Given the description of an element on the screen output the (x, y) to click on. 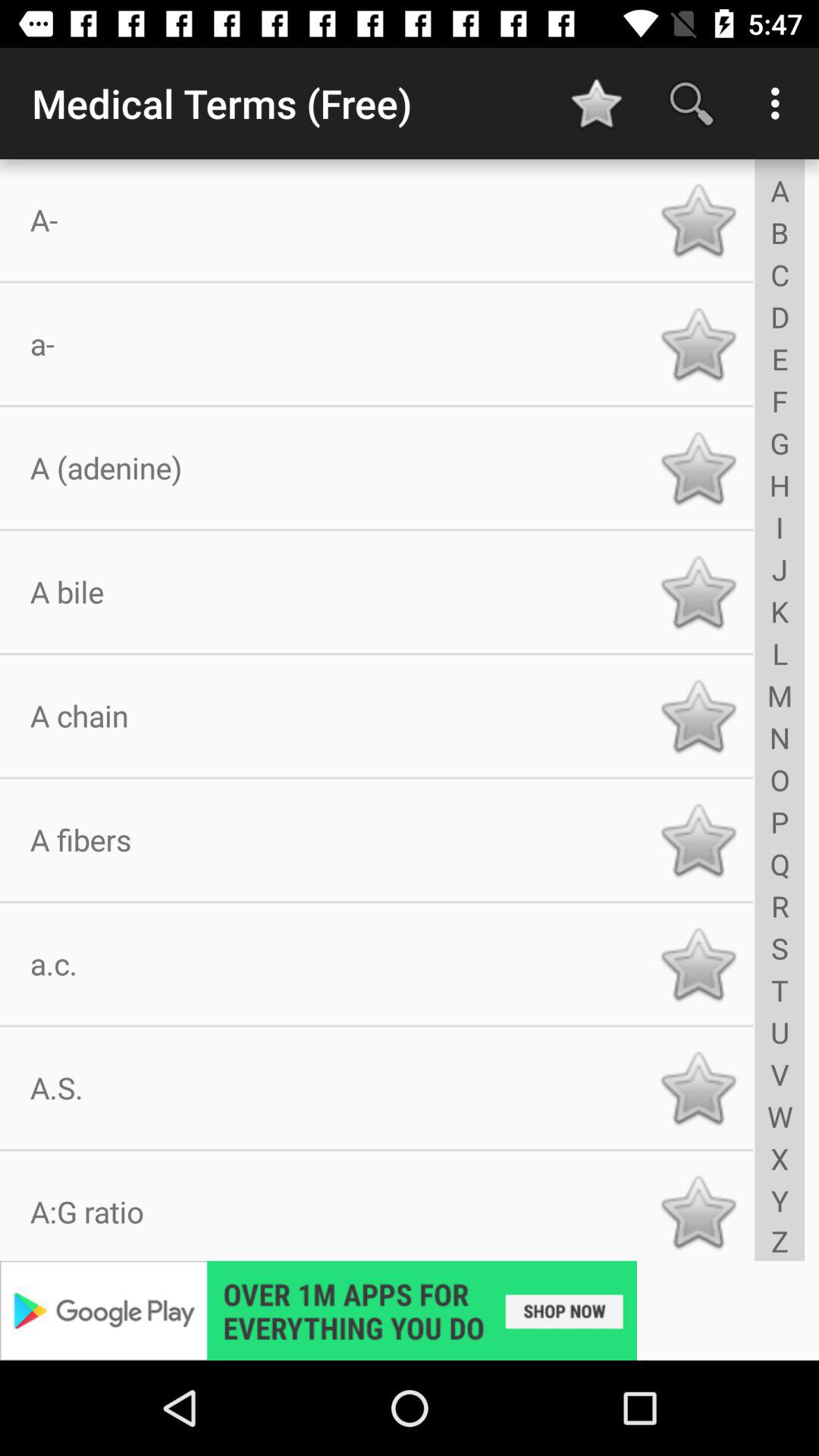
see medical terms listing for a bile (697, 592)
